Given the description of an element on the screen output the (x, y) to click on. 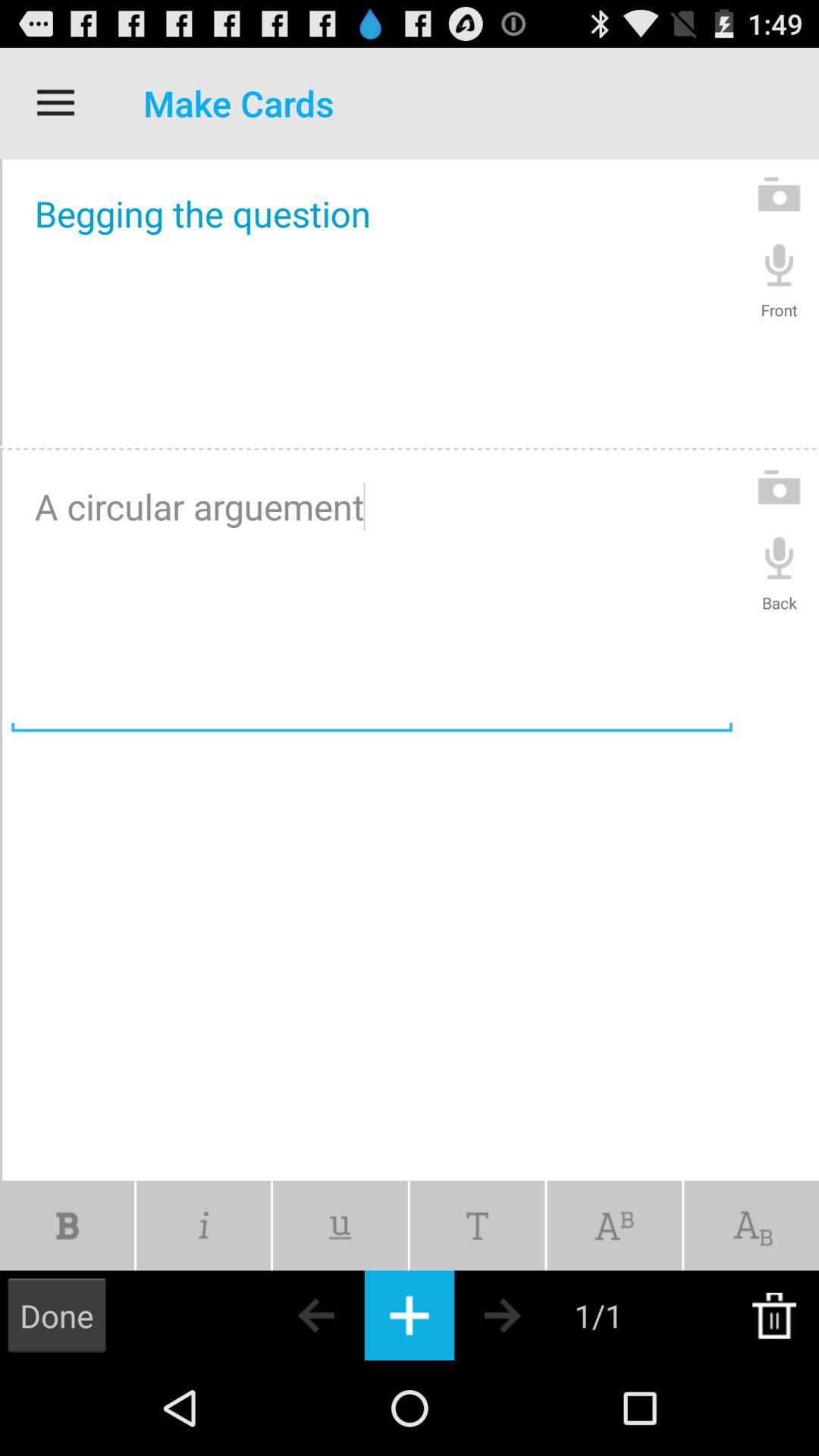
to make underline (340, 1225)
